Given the description of an element on the screen output the (x, y) to click on. 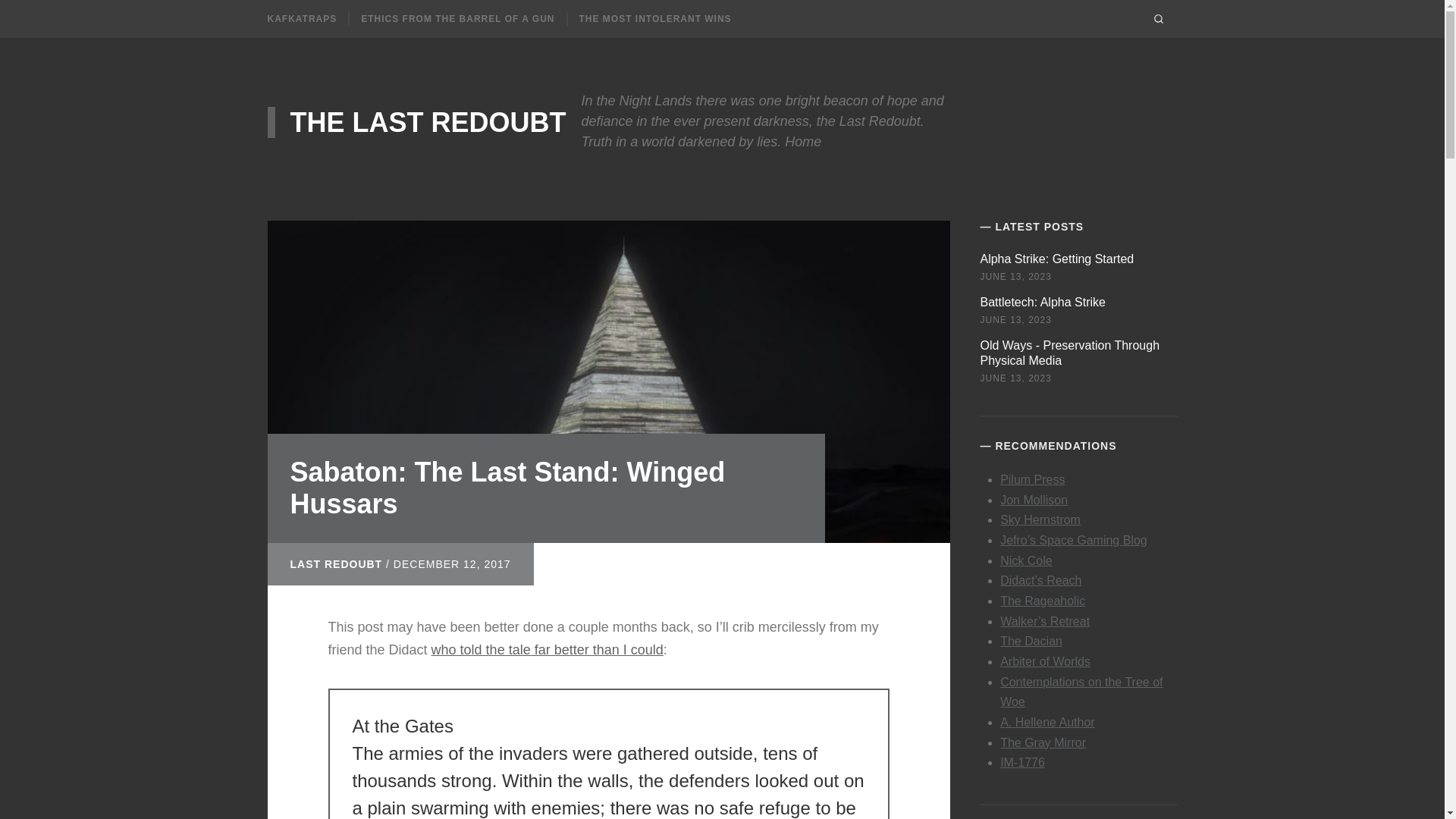
The Dacian (1031, 640)
THE MOST INTOLERANT WINS (655, 18)
A. Hellene Author (1047, 721)
Nick Cole (1025, 560)
Pilum Press (1032, 479)
IM-1776 (1022, 762)
THE LAST REDOUBT (416, 118)
KAFKATRAPS (301, 18)
LAST REDOUBT (335, 552)
